Given the description of an element on the screen output the (x, y) to click on. 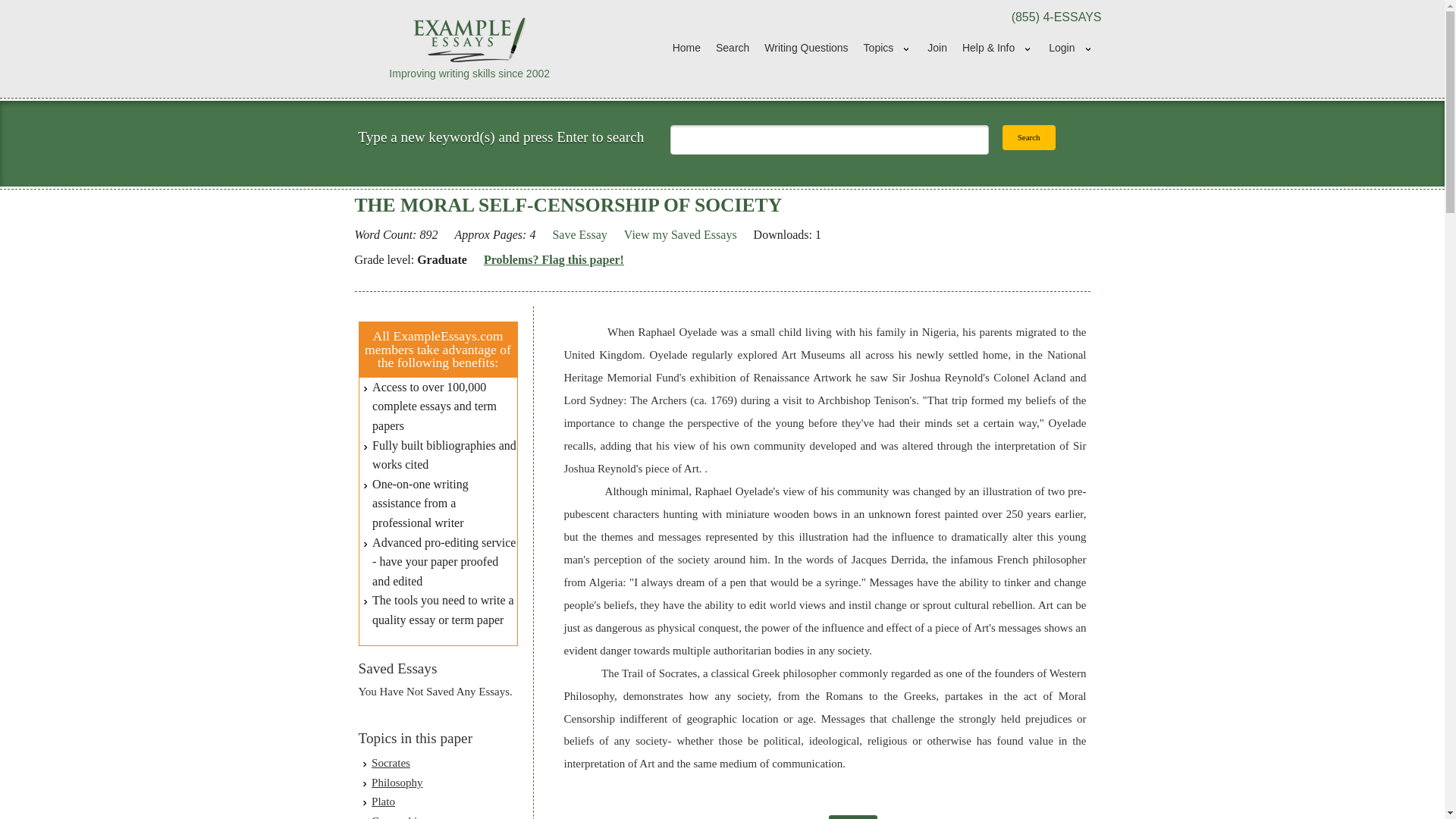
Search (732, 48)
Problems? Flag this paper! (553, 260)
Plato (382, 801)
Topics (888, 48)
Censorship (397, 816)
Writing Questions (806, 48)
Search (1029, 137)
Philosophy (397, 782)
Improving writing skills since 2002 (470, 48)
Click here to save this paper for future access (579, 234)
Save Essay (579, 234)
Join (937, 48)
Login (1070, 48)
View my Saved Essays (680, 234)
Home (686, 48)
